Given the description of an element on the screen output the (x, y) to click on. 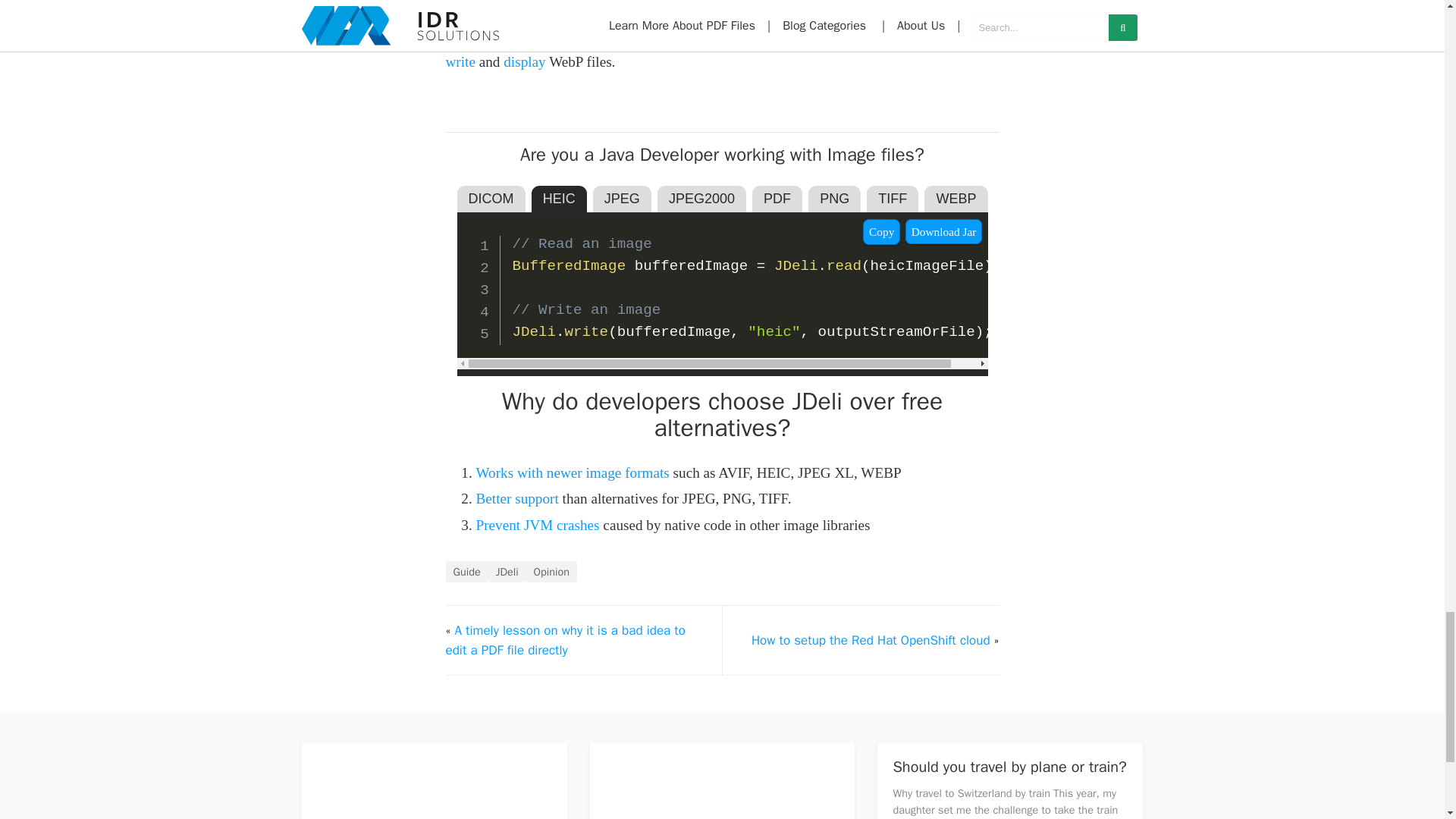
PDF (777, 198)
Copy (881, 231)
JPEG2000 (701, 198)
Download Jar (943, 231)
read (972, 35)
HEIC (558, 198)
JPEG (621, 198)
Prevent JVM crashes (537, 524)
PNG (834, 198)
TIFF (892, 198)
